Given the description of an element on the screen output the (x, y) to click on. 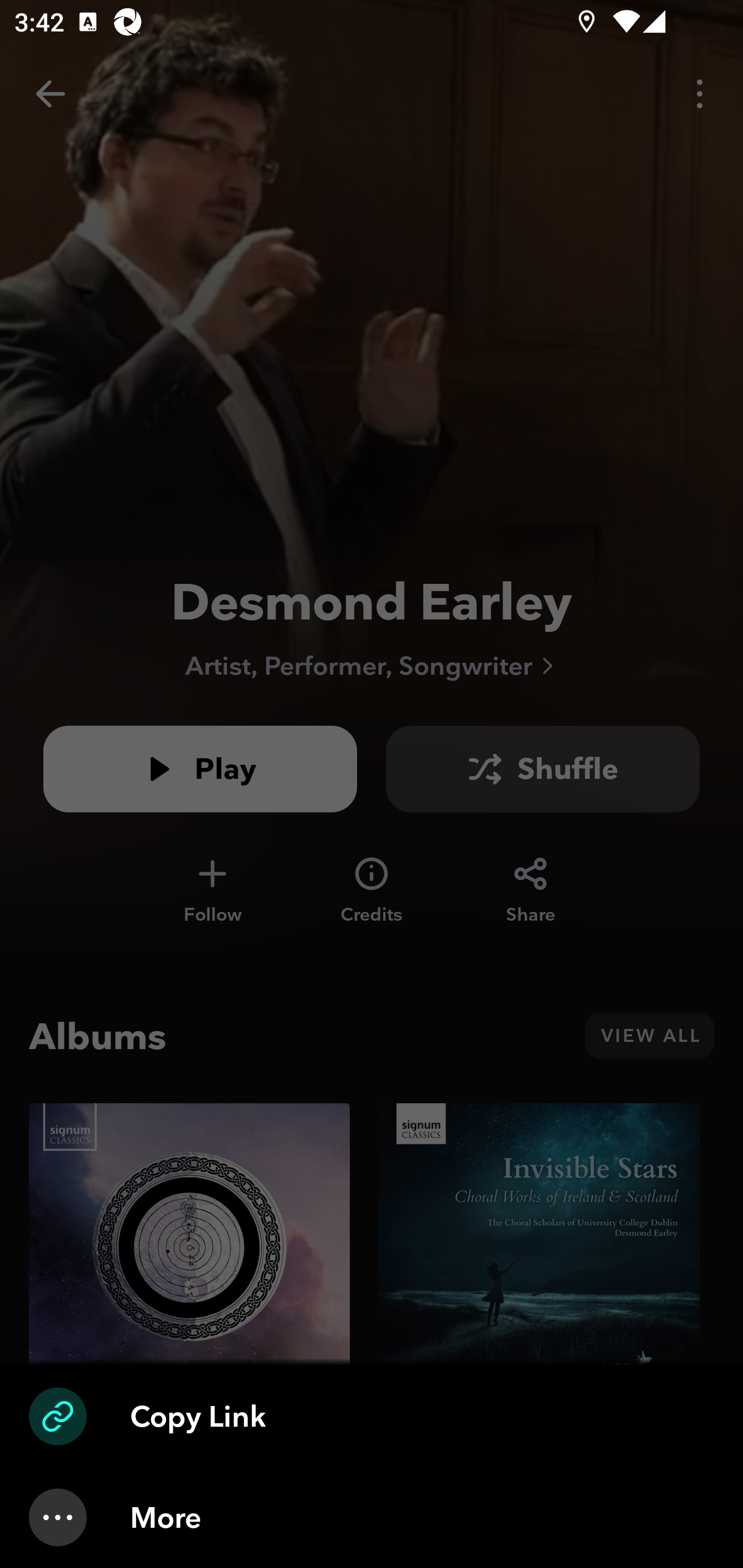
Copy Link (371, 1416)
More (371, 1517)
